Given the description of an element on the screen output the (x, y) to click on. 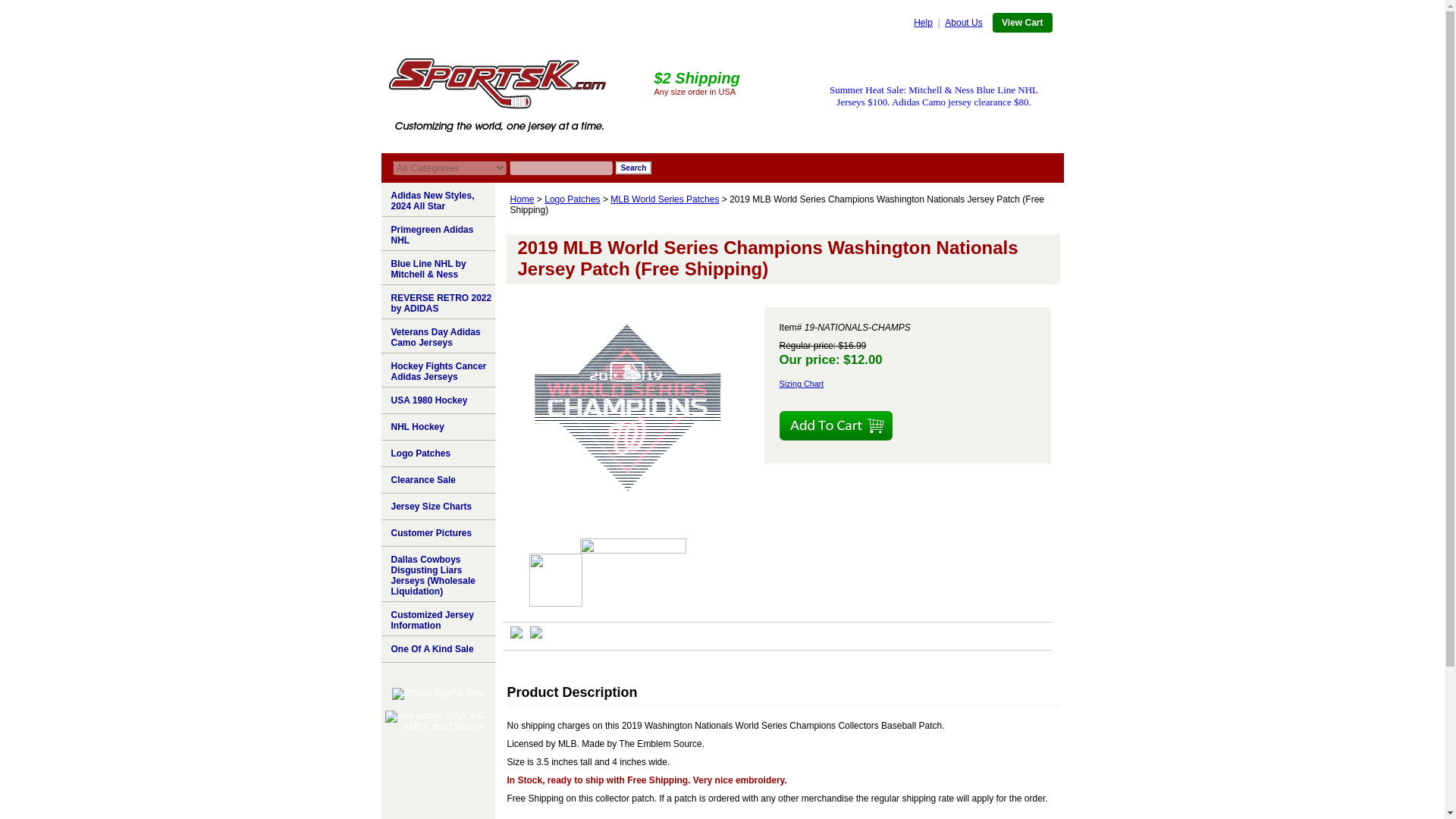
Hockey Fights Cancer Adidas Jerseys (437, 369)
Clearance Sale (437, 479)
One Of A Kind Sale (437, 649)
Logo Patches (571, 199)
Search (633, 167)
Hockey Fights Cancer Adidas Jerseys (437, 369)
Customized Jersey Information (437, 618)
Clearance Sale (437, 479)
Home (521, 199)
Add to cart (835, 425)
